Given the description of an element on the screen output the (x, y) to click on. 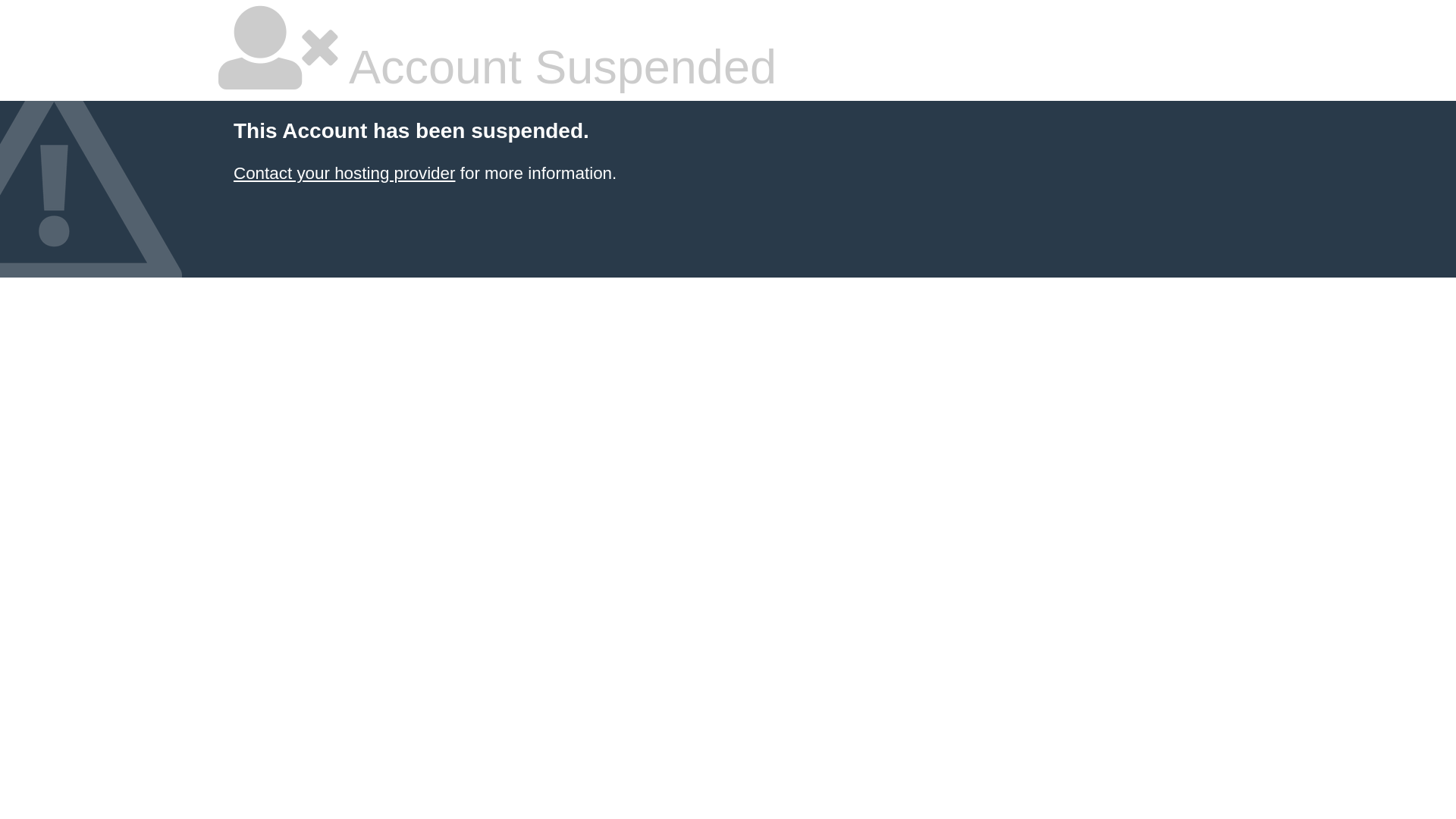
Contact your hosting provider Element type: text (344, 172)
